Given the description of an element on the screen output the (x, y) to click on. 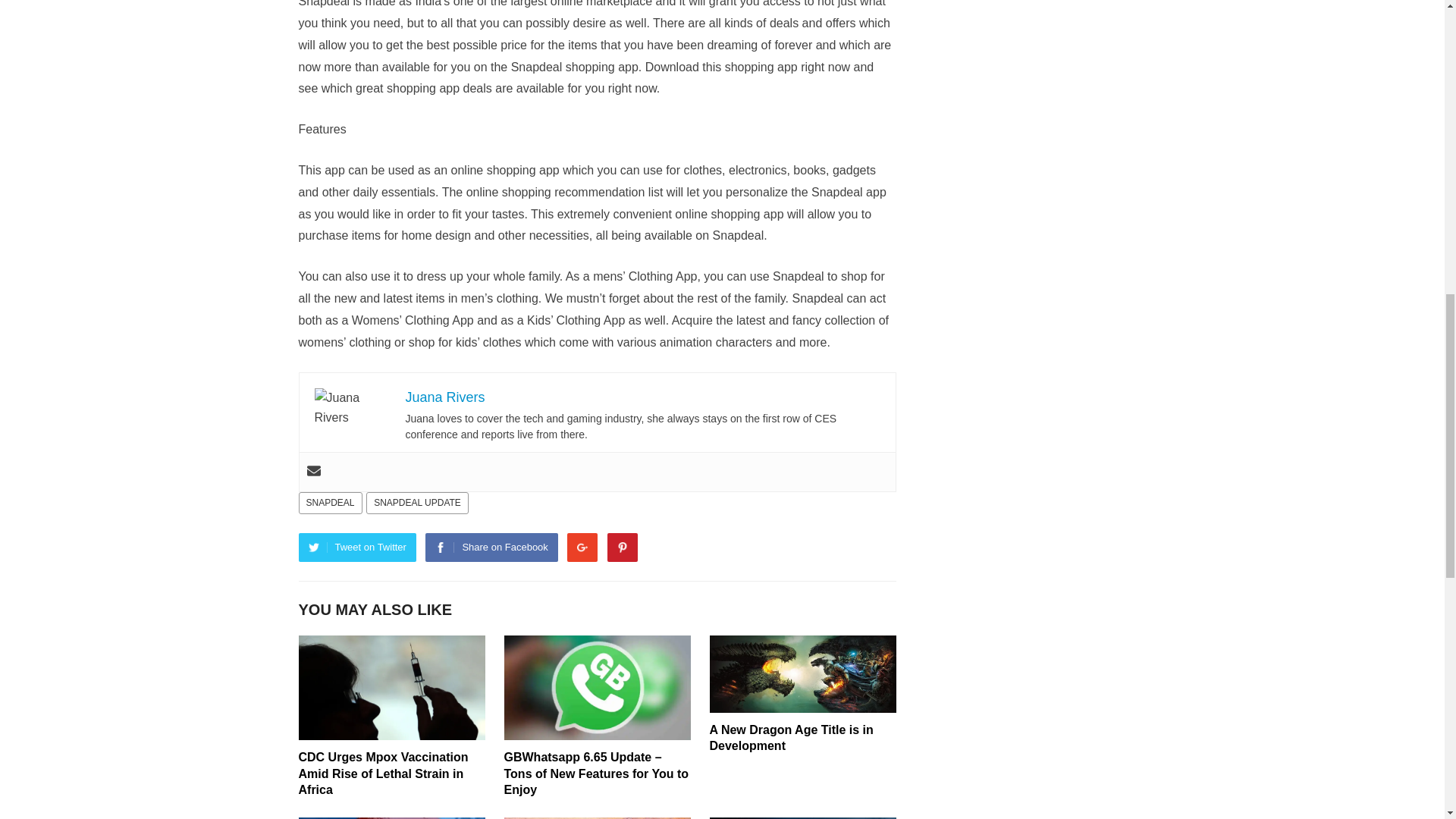
SNAPDEAL (330, 503)
Share on Facebook (491, 547)
Pinterest (622, 547)
SNAPDEAL UPDATE (417, 503)
A New Dragon Age Title is in Development (791, 737)
Tweet on Twitter (357, 547)
Juana Rivers (444, 396)
